Given the description of an element on the screen output the (x, y) to click on. 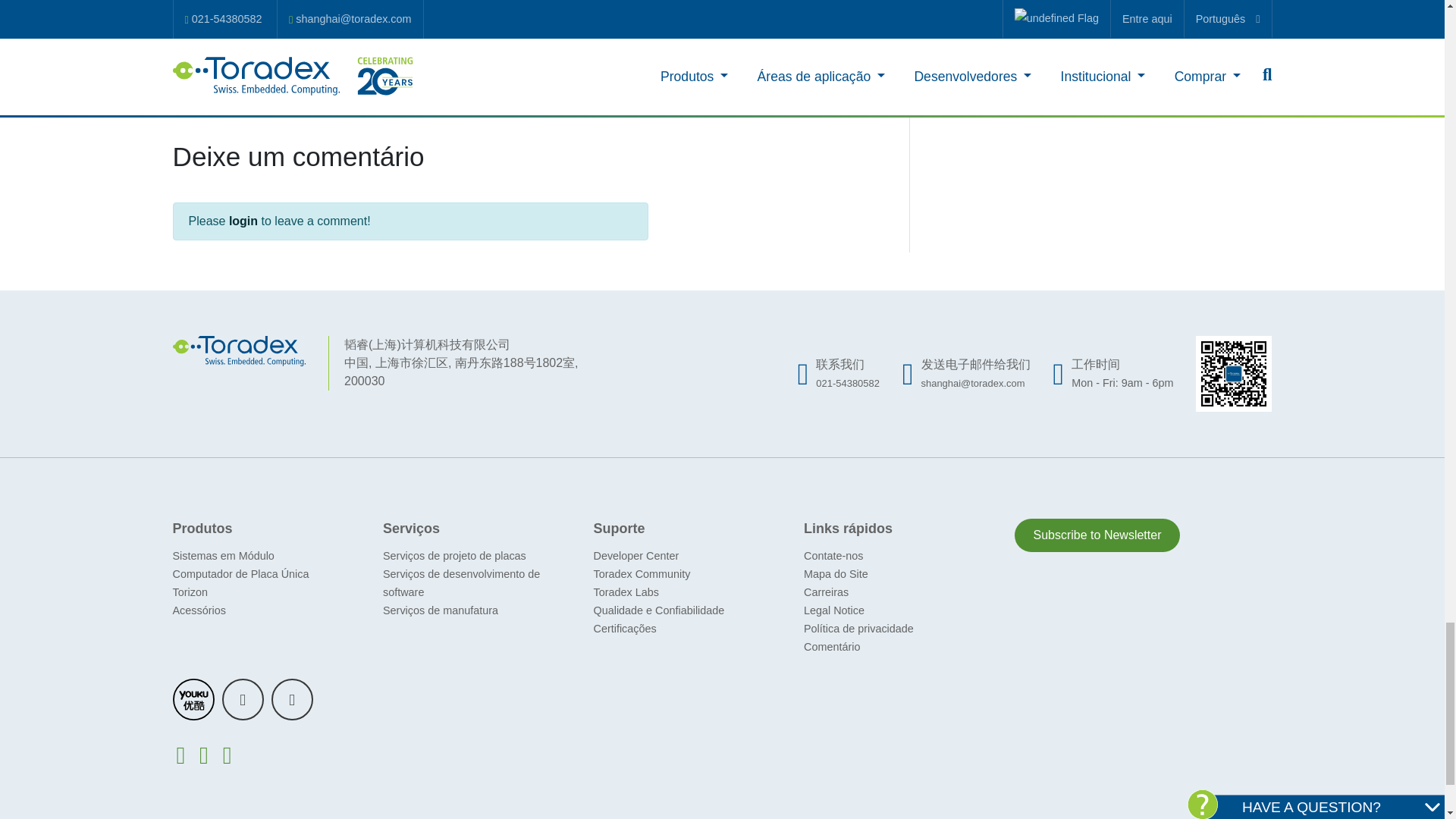
Toradex - Global Leader in Arm Embedded Computer Modules (239, 349)
